Given the description of an element on the screen output the (x, y) to click on. 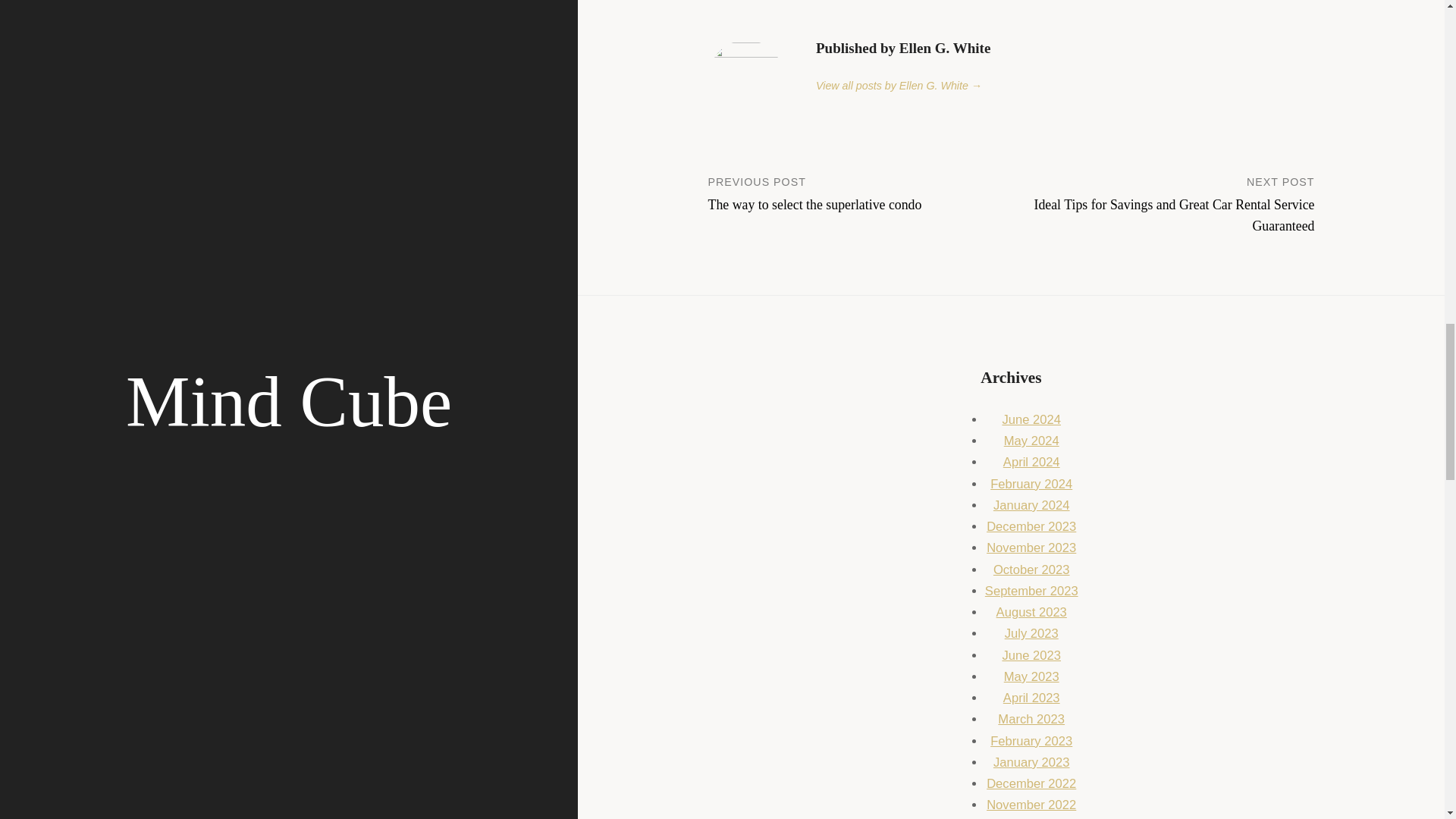
December 2023 (1031, 526)
November 2023 (1031, 547)
February 2023 (1030, 740)
November 2022 (1031, 804)
June 2023 (1031, 655)
July 2023 (1031, 633)
May 2023 (1031, 676)
March 2023 (1030, 718)
August 2023 (1031, 612)
December 2022 (1031, 783)
